Given the description of an element on the screen output the (x, y) to click on. 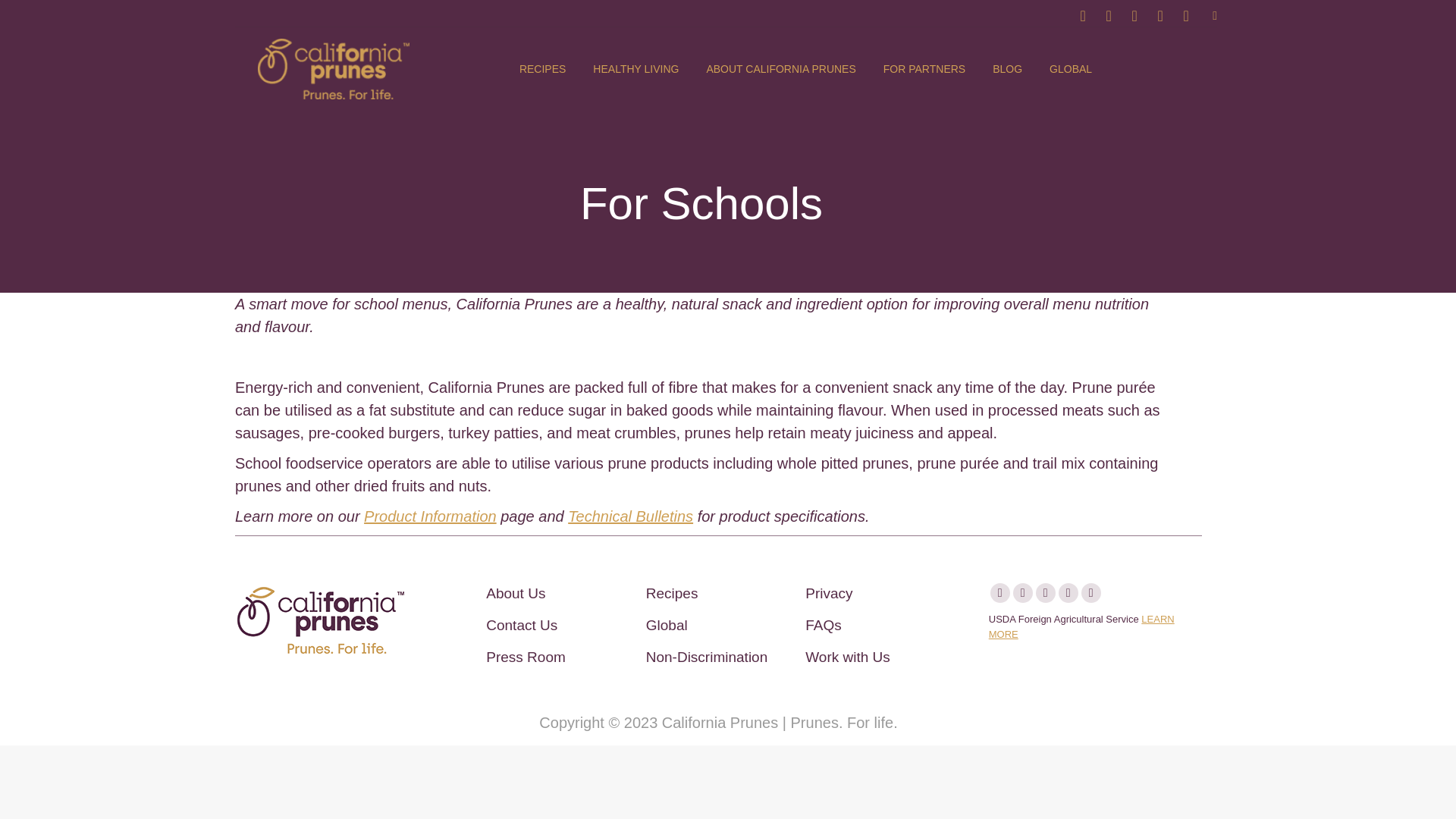
RECIPES (542, 68)
Instagram page opens in new window (1108, 15)
Facebook page opens in new window (1082, 15)
HEALTHY LIVING (635, 68)
Facebook page opens in new window (1082, 15)
Pinterest page opens in new window (1133, 15)
Linkedin page opens in new window (1185, 15)
YouTube page opens in new window (1160, 15)
YouTube page opens in new window (1160, 15)
ABOUT CALIFORNIA PRUNES (781, 68)
